Given the description of an element on the screen output the (x, y) to click on. 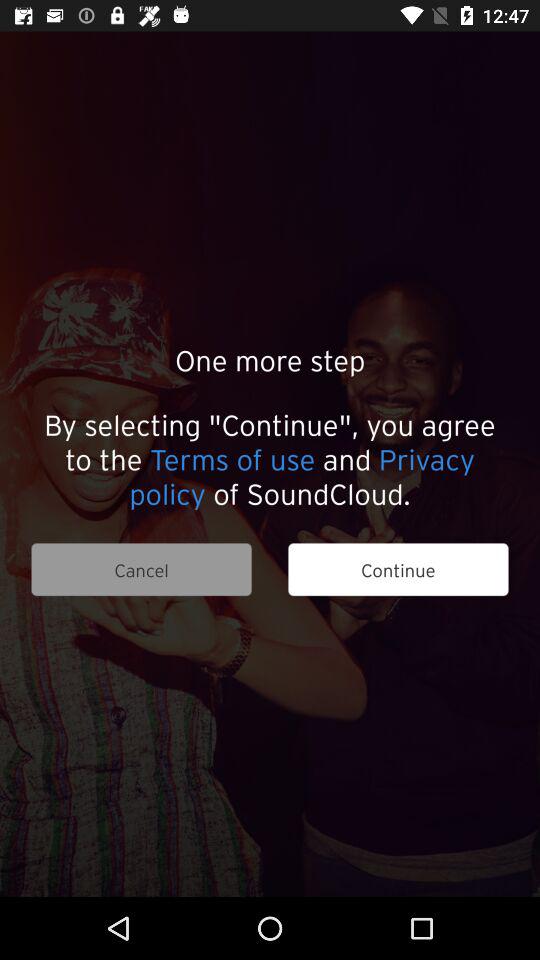
launch the item above the cancel item (269, 457)
